Given the description of an element on the screen output the (x, y) to click on. 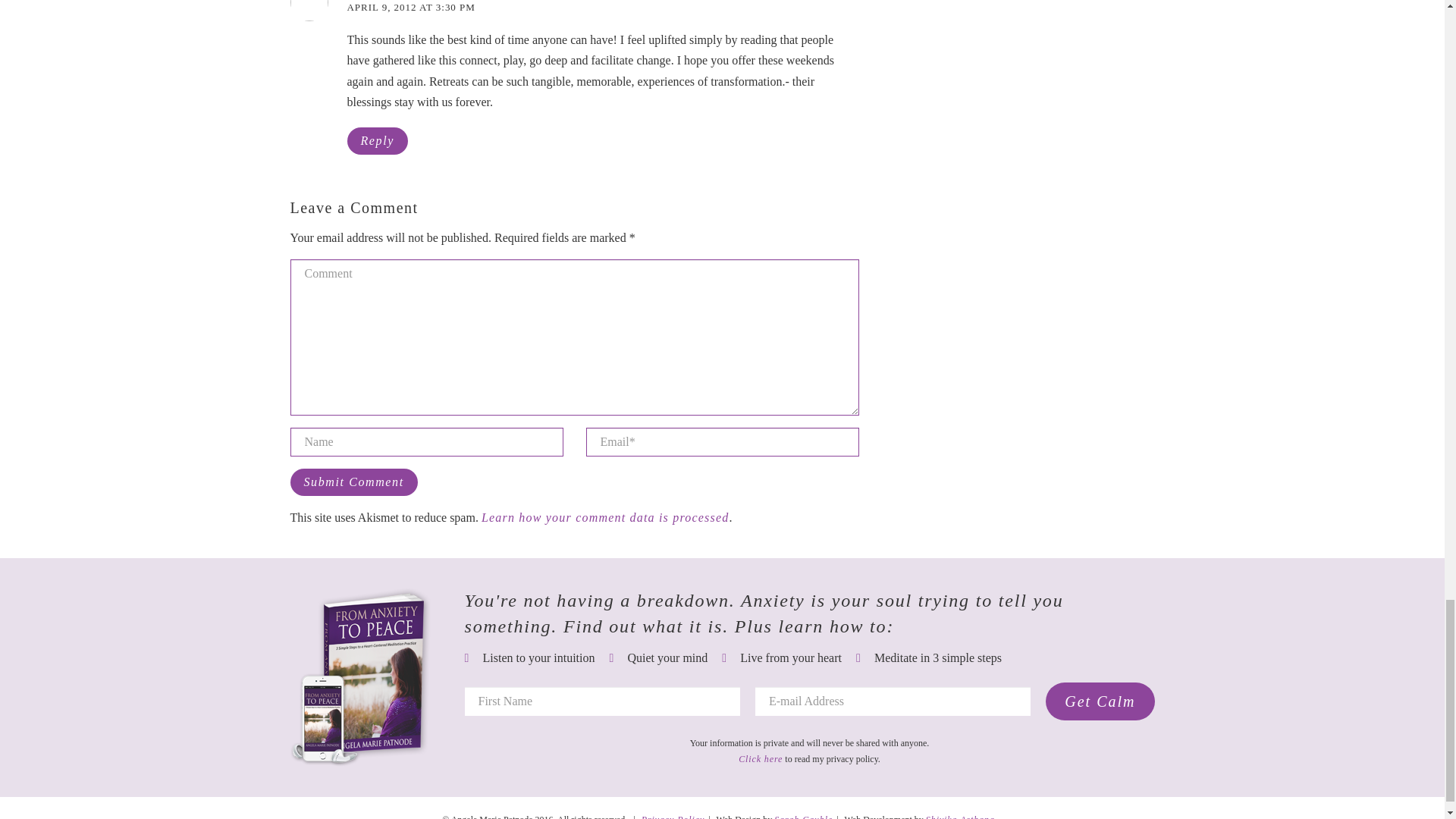
Reply (377, 140)
Submit Comment (352, 482)
Learn how your comment data is processed (605, 517)
Submit Comment (352, 482)
